Given the description of an element on the screen output the (x, y) to click on. 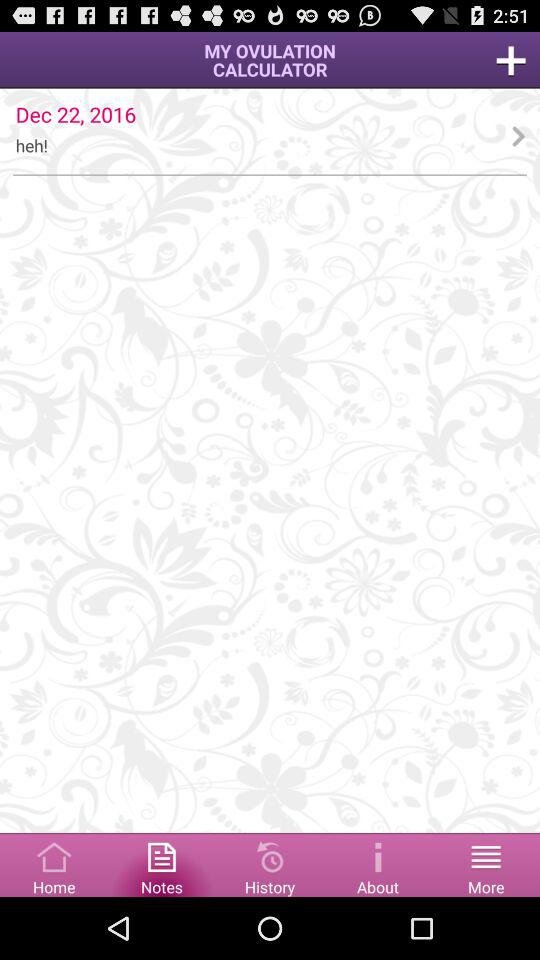
history page (270, 864)
